Given the description of an element on the screen output the (x, y) to click on. 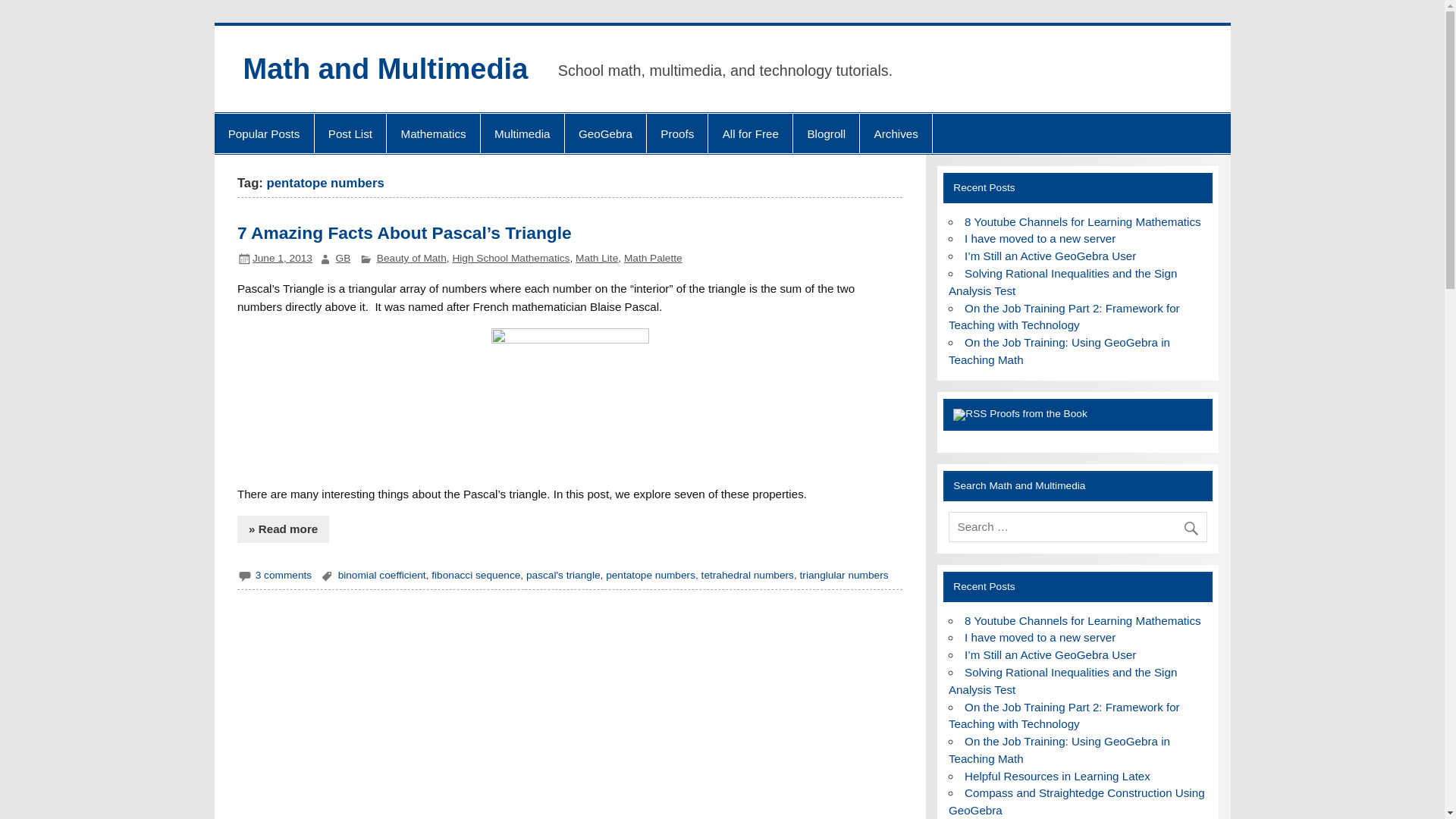
View all posts by GB (343, 257)
8 Youtube Channels for Learning Mathematics (1082, 221)
tetrahedral numbers (747, 574)
Math Palette (653, 257)
fibonacci sequence (474, 574)
Multimedia (522, 133)
Archives (895, 133)
pentatope numbers (650, 574)
Proofs from the Book (1038, 413)
On the Job Training: Using GeoGebra in Teaching Math (1059, 350)
